Given the description of an element on the screen output the (x, y) to click on. 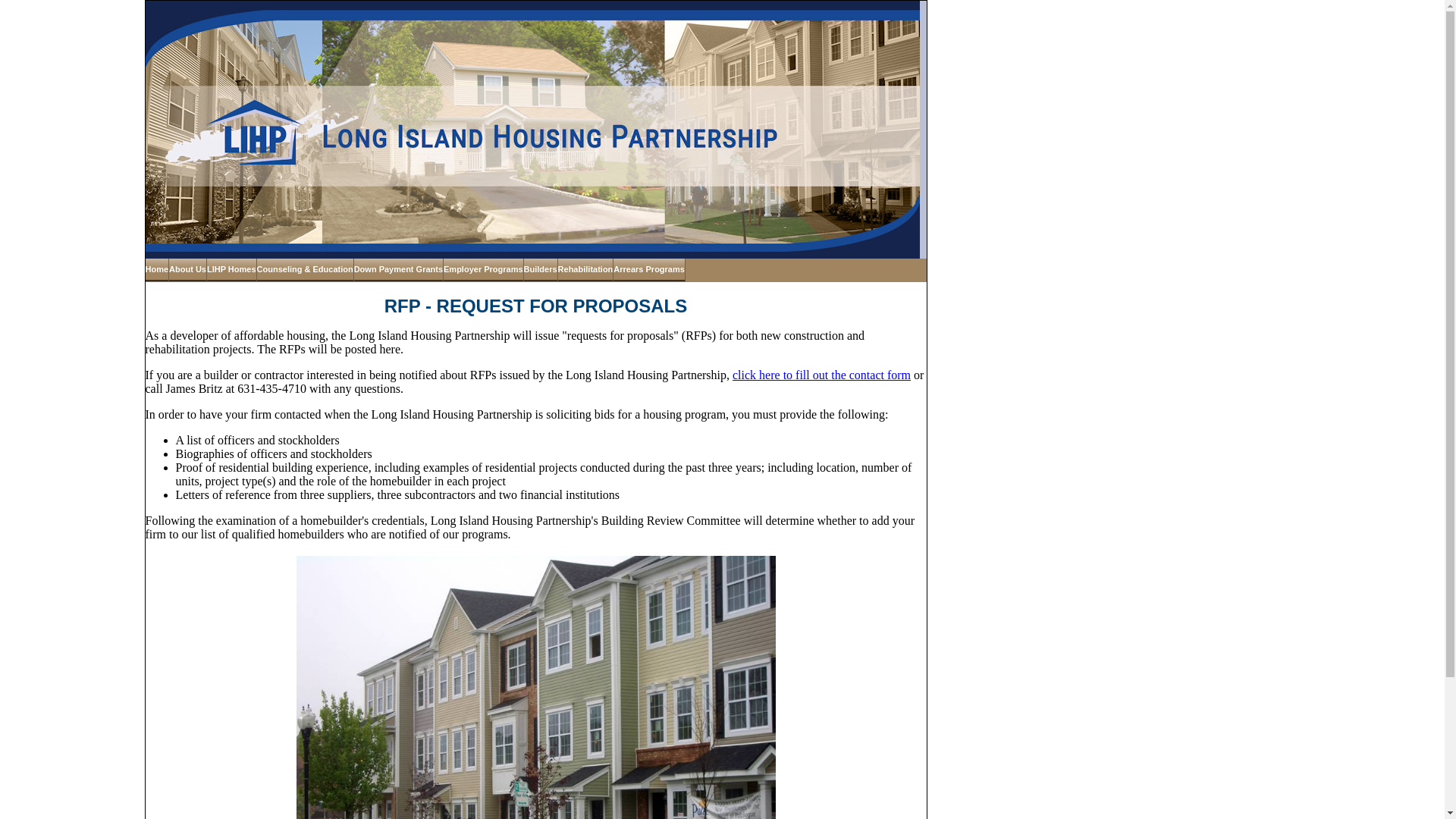
LIHP Homes (231, 269)
Builders (540, 269)
Employer Programs (484, 269)
LIHP Homes (231, 269)
Arrears Programs (648, 269)
Home (157, 269)
About Us (187, 269)
Home (157, 269)
About Us (187, 269)
Rehabilitation (585, 269)
Down Payment Grants (398, 269)
